Given the description of an element on the screen output the (x, y) to click on. 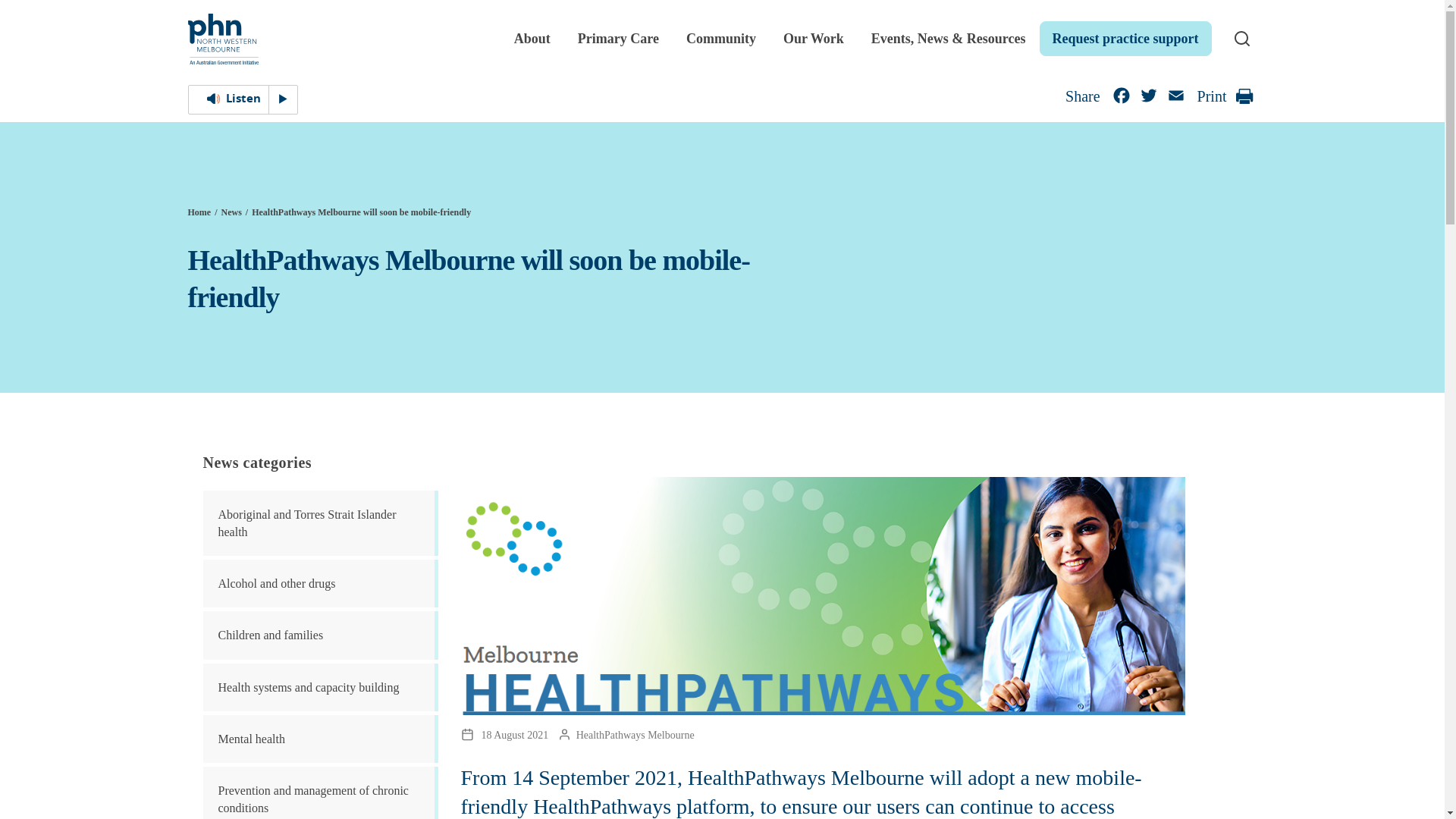
Primary Care (618, 38)
Listen to this page using ReadSpeaker (242, 99)
back to Homepage (201, 212)
Email (1175, 99)
HealthPathways Melbourne will soon be mobile-friendly (360, 212)
Twitter (1148, 99)
News (230, 212)
Facebook (1121, 99)
